Given the description of an element on the screen output the (x, y) to click on. 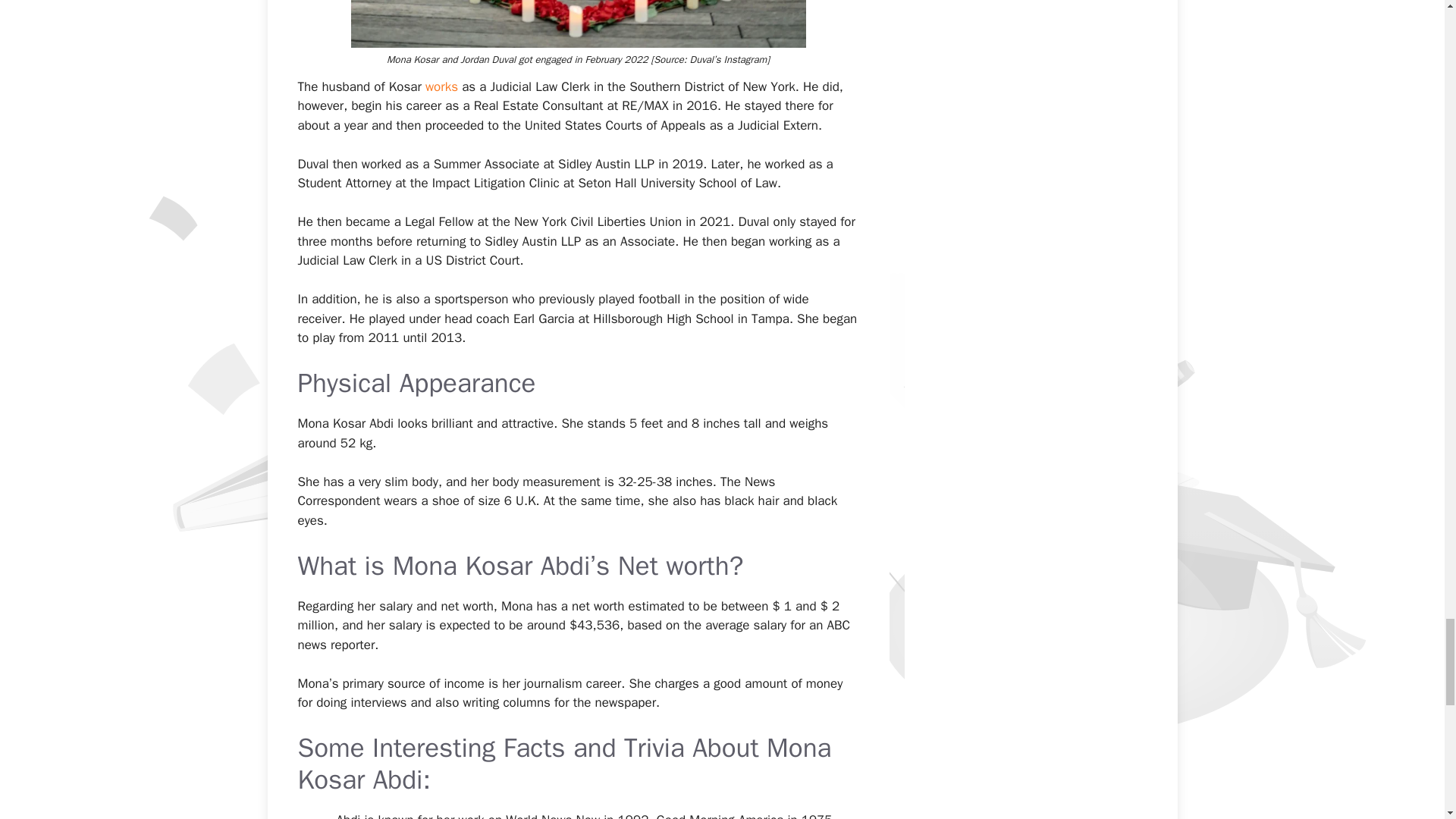
works (441, 86)
